Given the description of an element on the screen output the (x, y) to click on. 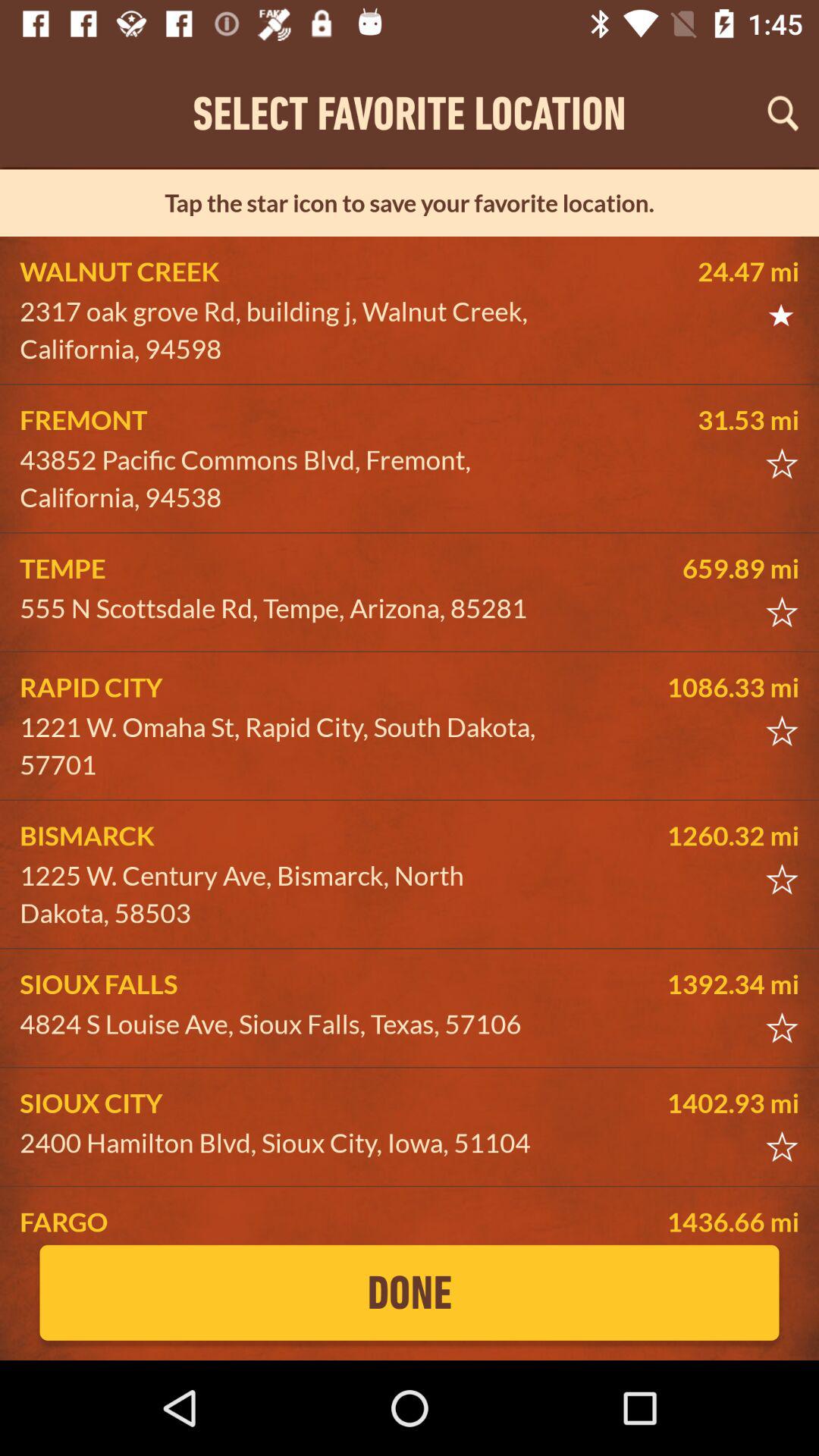
choose icon below fargo item (409, 1292)
